Given the description of an element on the screen output the (x, y) to click on. 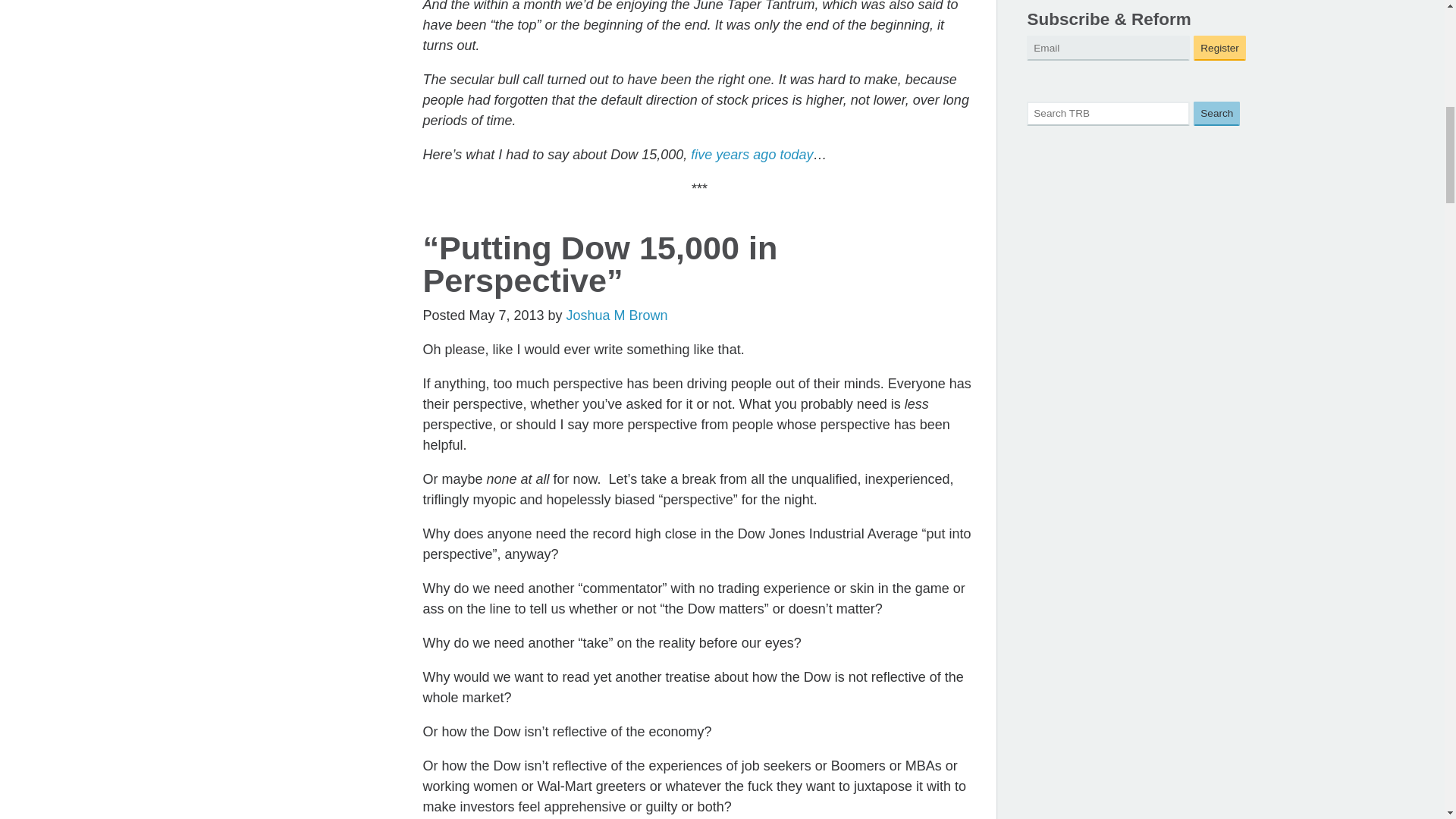
Search (1216, 113)
five years ago today (751, 154)
Register (1218, 48)
Posts by Joshua M Brown (617, 314)
Joshua M Brown (617, 314)
